Given the description of an element on the screen output the (x, y) to click on. 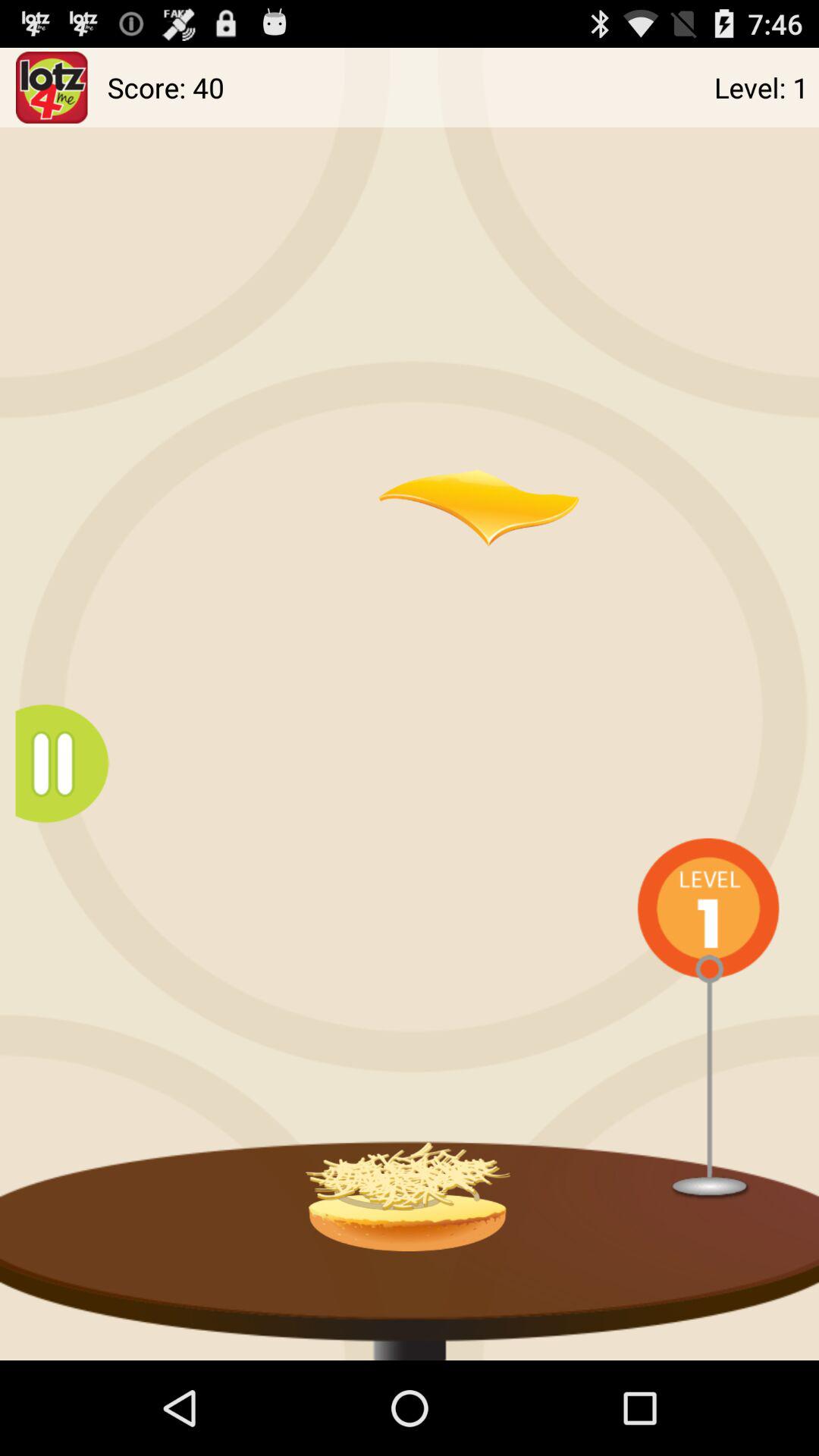
pause the reproduction (69, 763)
